Given the description of an element on the screen output the (x, y) to click on. 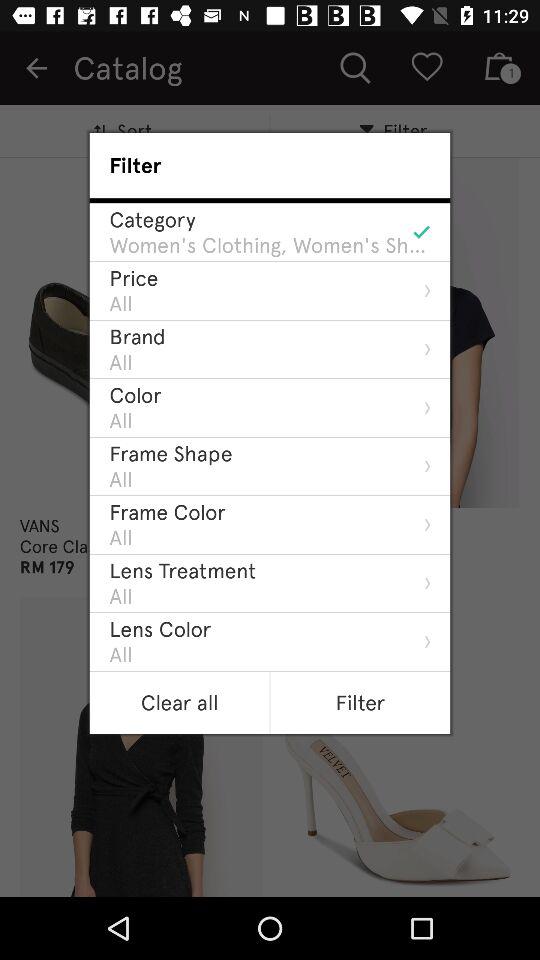
scroll to price item (133, 277)
